Given the description of an element on the screen output the (x, y) to click on. 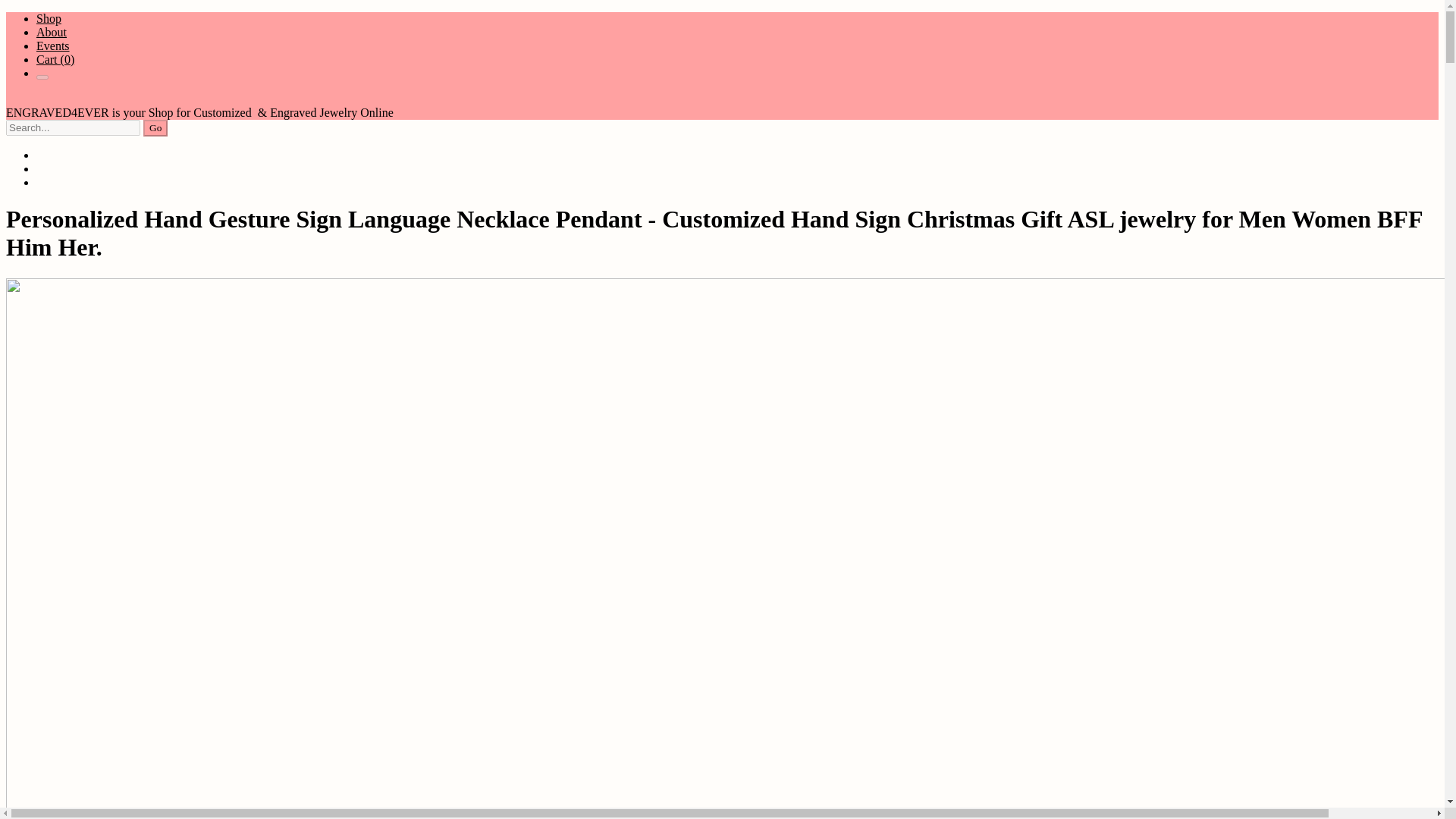
Shop (48, 18)
About (51, 31)
Go (154, 127)
Events (52, 45)
Go (154, 127)
